Given the description of an element on the screen output the (x, y) to click on. 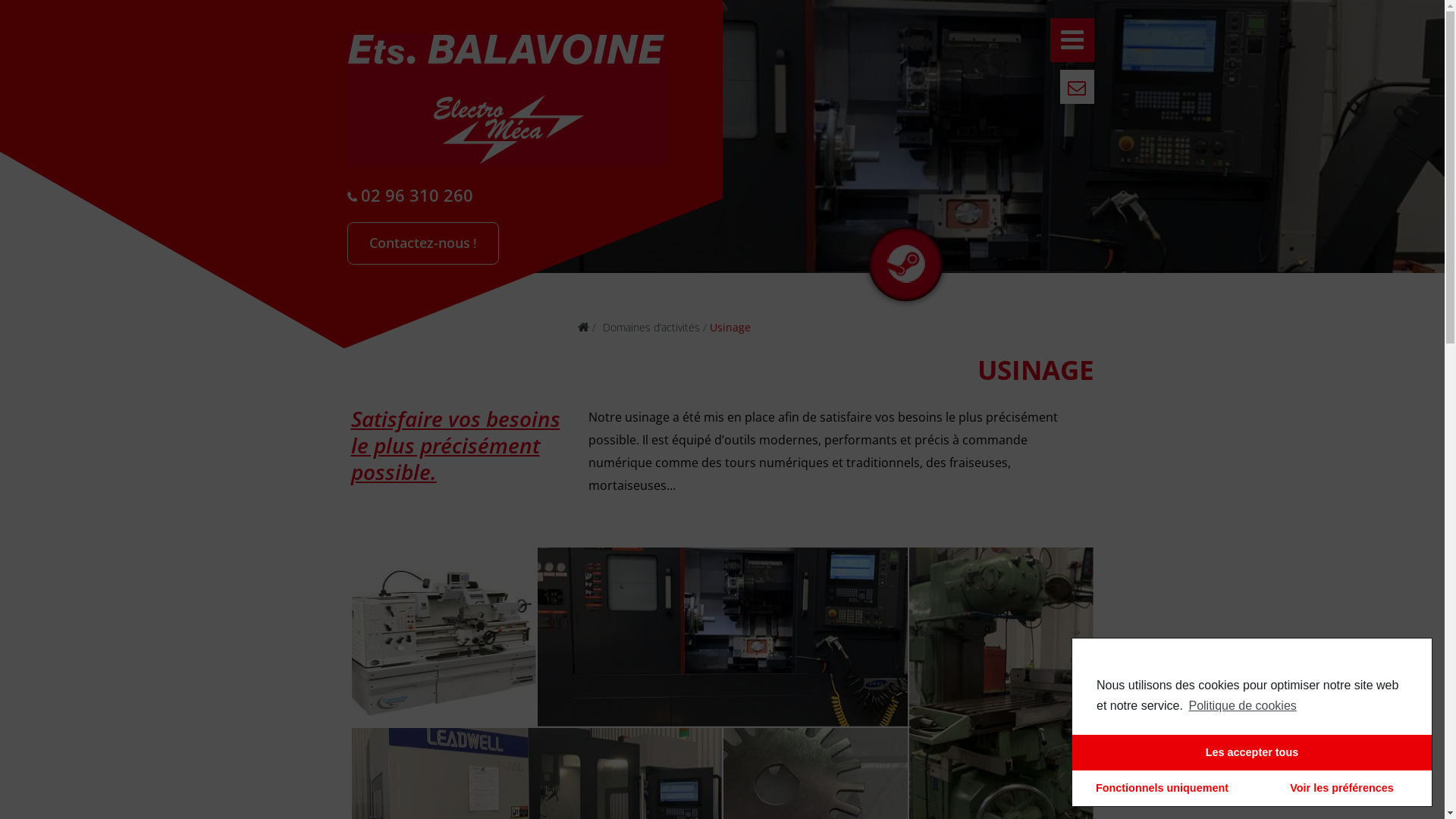
Contactez-nous Element type: text (422, 243)
02 96 310 260 Element type: text (506, 196)
Les accepter tous Element type: text (1251, 752)
Politique de cookies Element type: text (1241, 705)
Fonctionnels uniquement Element type: text (1162, 788)
